Given the description of an element on the screen output the (x, y) to click on. 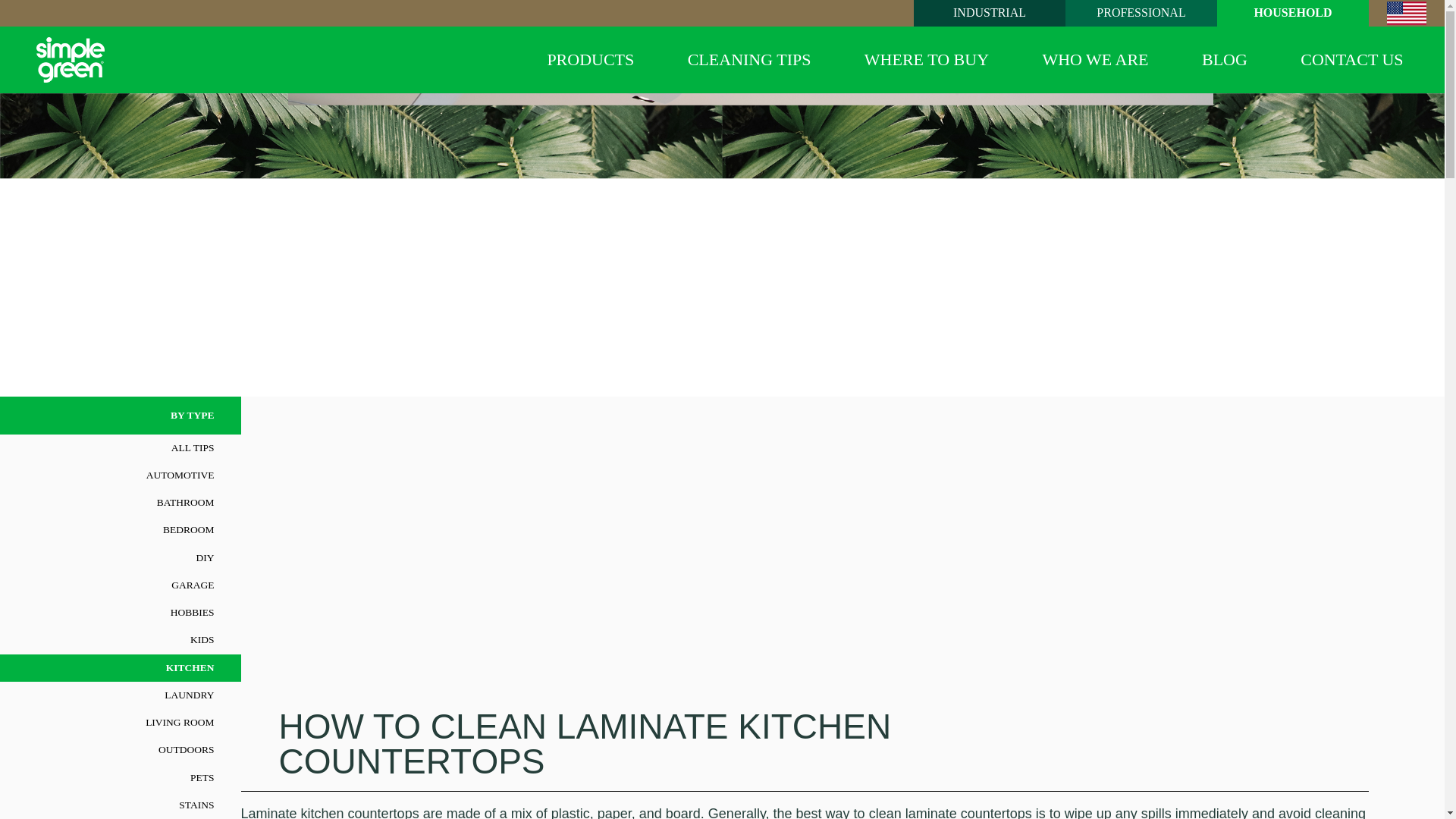
INDUSTRIAL (989, 11)
HOUSEHOLD (1292, 11)
US Flag (1406, 13)
PROFESSIONAL (1141, 11)
